Given the description of an element on the screen output the (x, y) to click on. 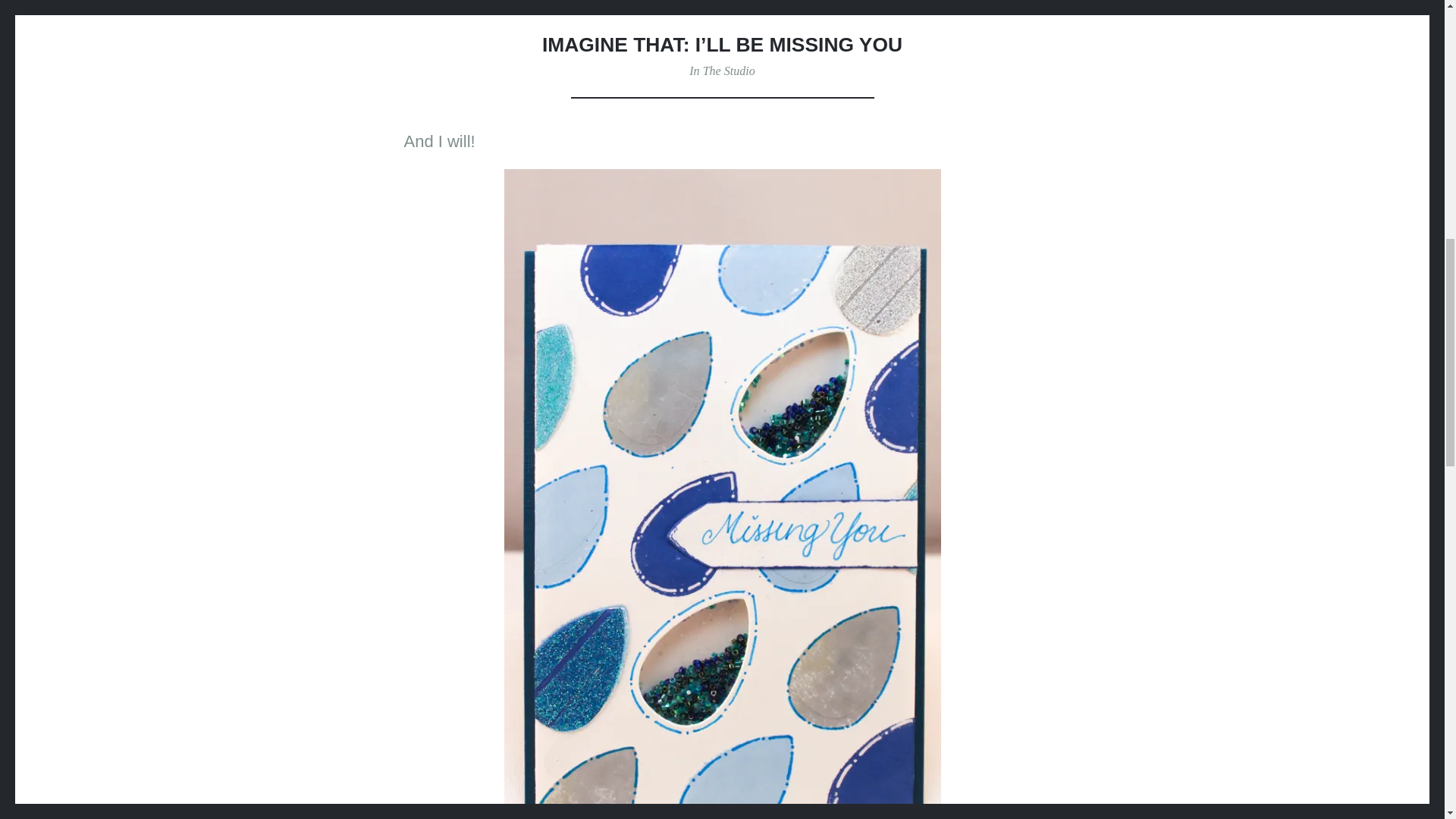
In The Studio (721, 70)
